Given the description of an element on the screen output the (x, y) to click on. 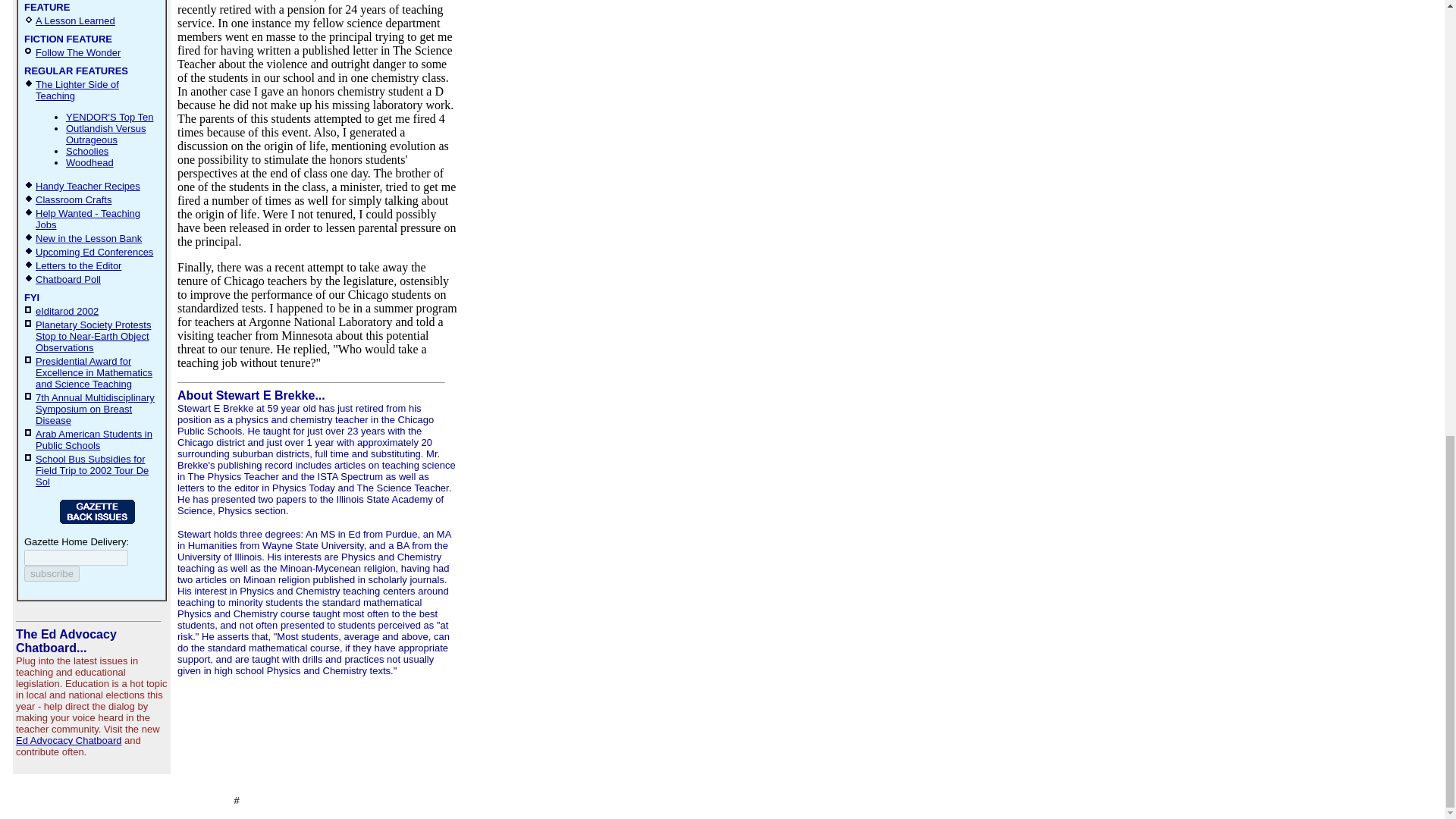
subscribe (52, 573)
